Given the description of an element on the screen output the (x, y) to click on. 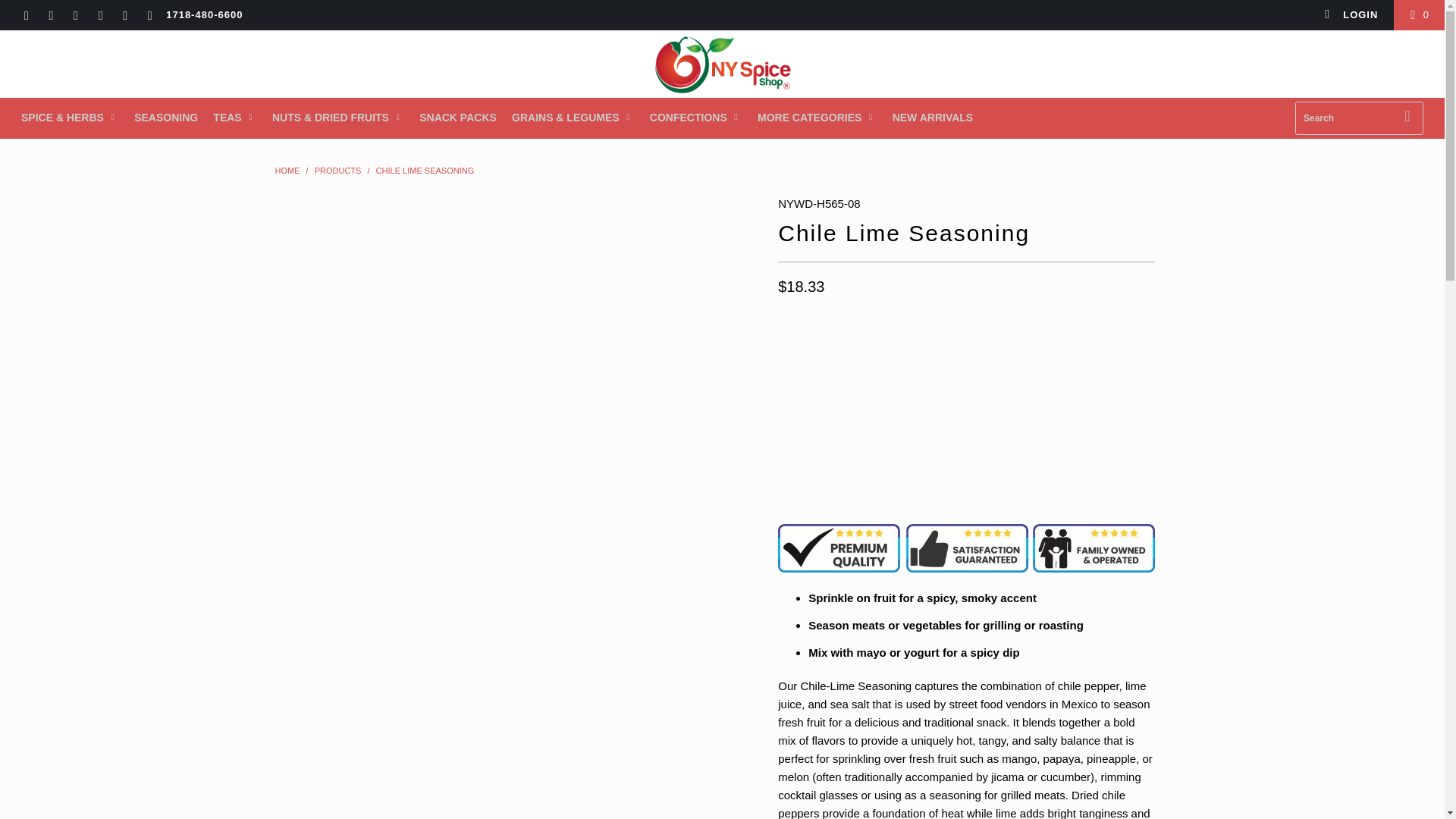
NY Spice Shop on Twitter (25, 16)
Email NY Spice Shop (148, 16)
Products (337, 170)
NY Spice Shop on Pinterest (99, 16)
NY Spice Shop on Instagram (124, 16)
My Account  (1351, 15)
NY Spice Shop (287, 170)
NY Spice Shop on Facebook (50, 16)
NY Spice Shop on YouTube (74, 16)
